Given the description of an element on the screen output the (x, y) to click on. 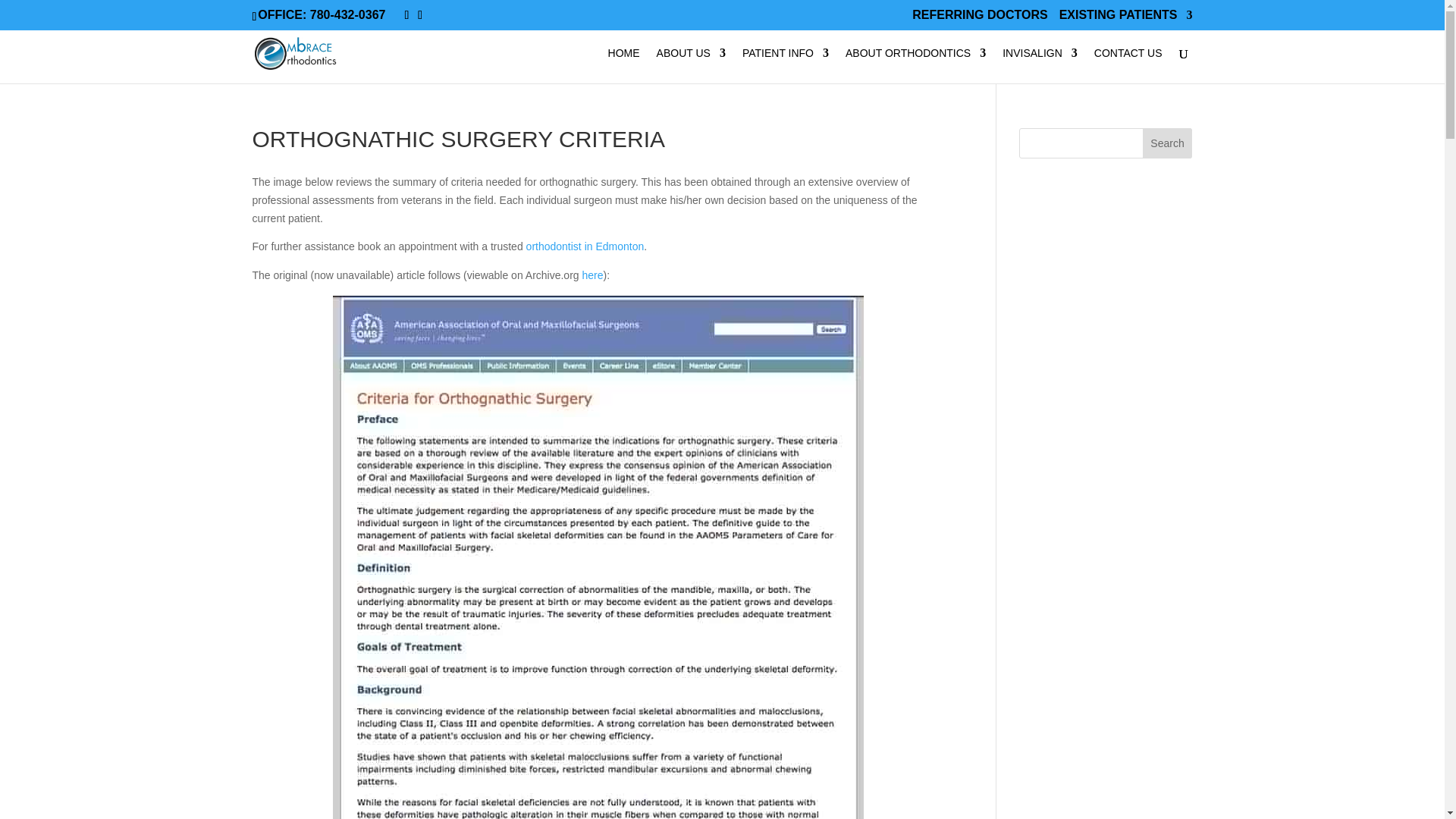
Search (1167, 142)
PATIENT INFO (785, 65)
Search (1167, 142)
INVISALIGN (1040, 65)
orthodontist in Edmonton (585, 246)
ABOUT ORTHODONTICS (915, 65)
EXISTING PATIENTS (1125, 19)
HOME (624, 65)
ABOUT US (690, 65)
here (593, 275)
